Given the description of an element on the screen output the (x, y) to click on. 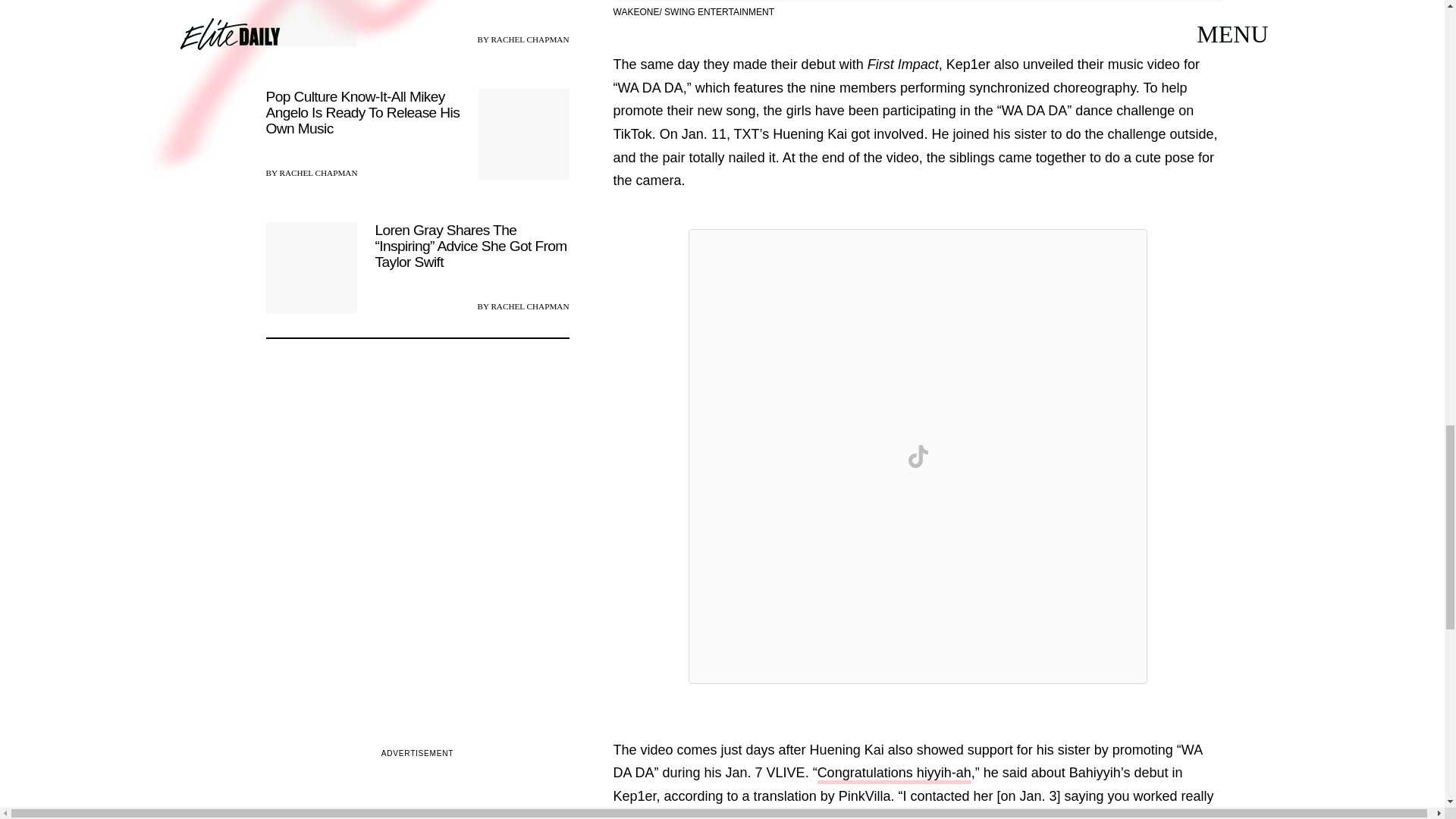
Congratulations hiyyih-ah (893, 773)
View on TikTok (917, 456)
